Given the description of an element on the screen output the (x, y) to click on. 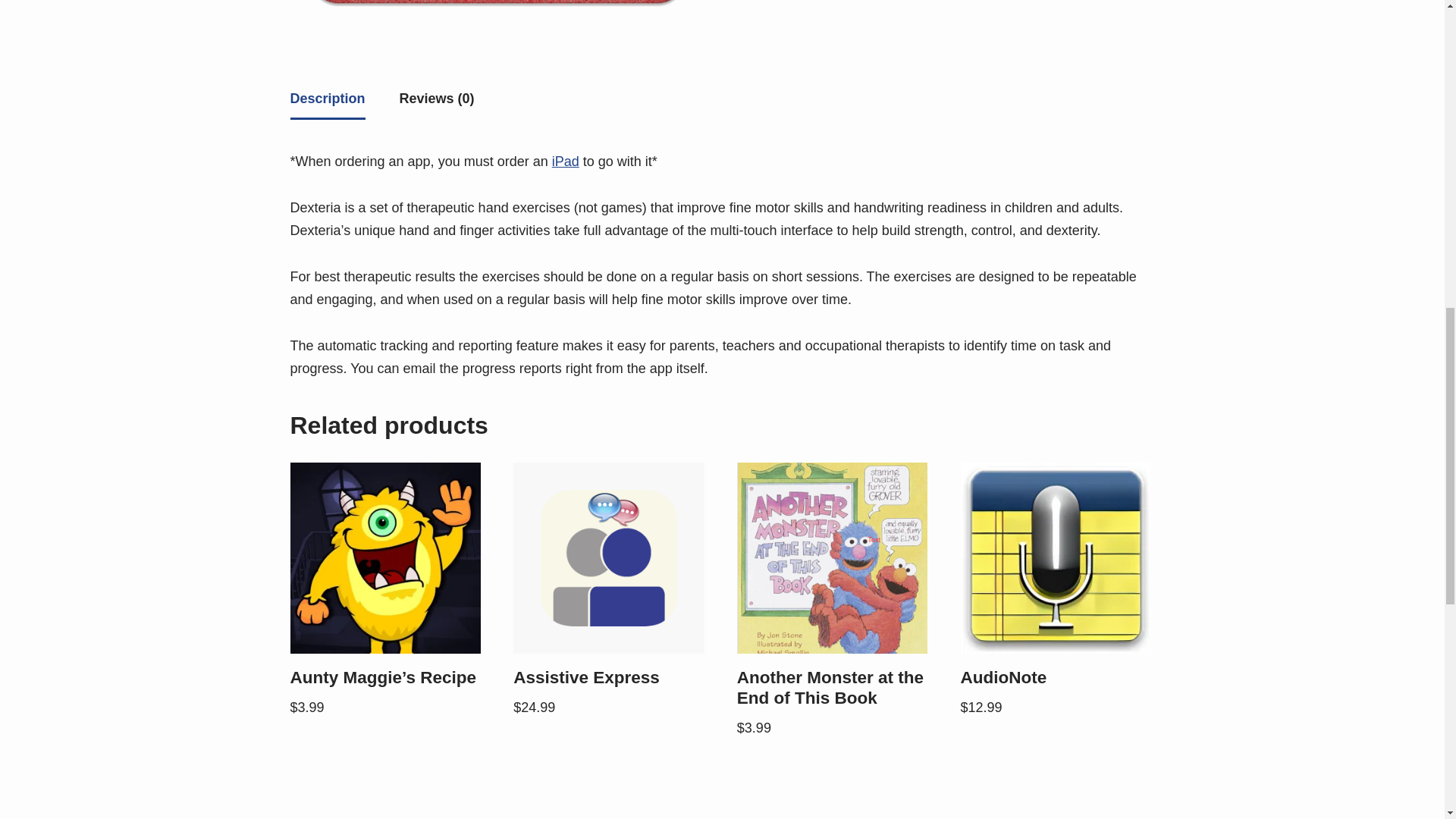
Dexteria (496, 11)
